Given the description of an element on the screen output the (x, y) to click on. 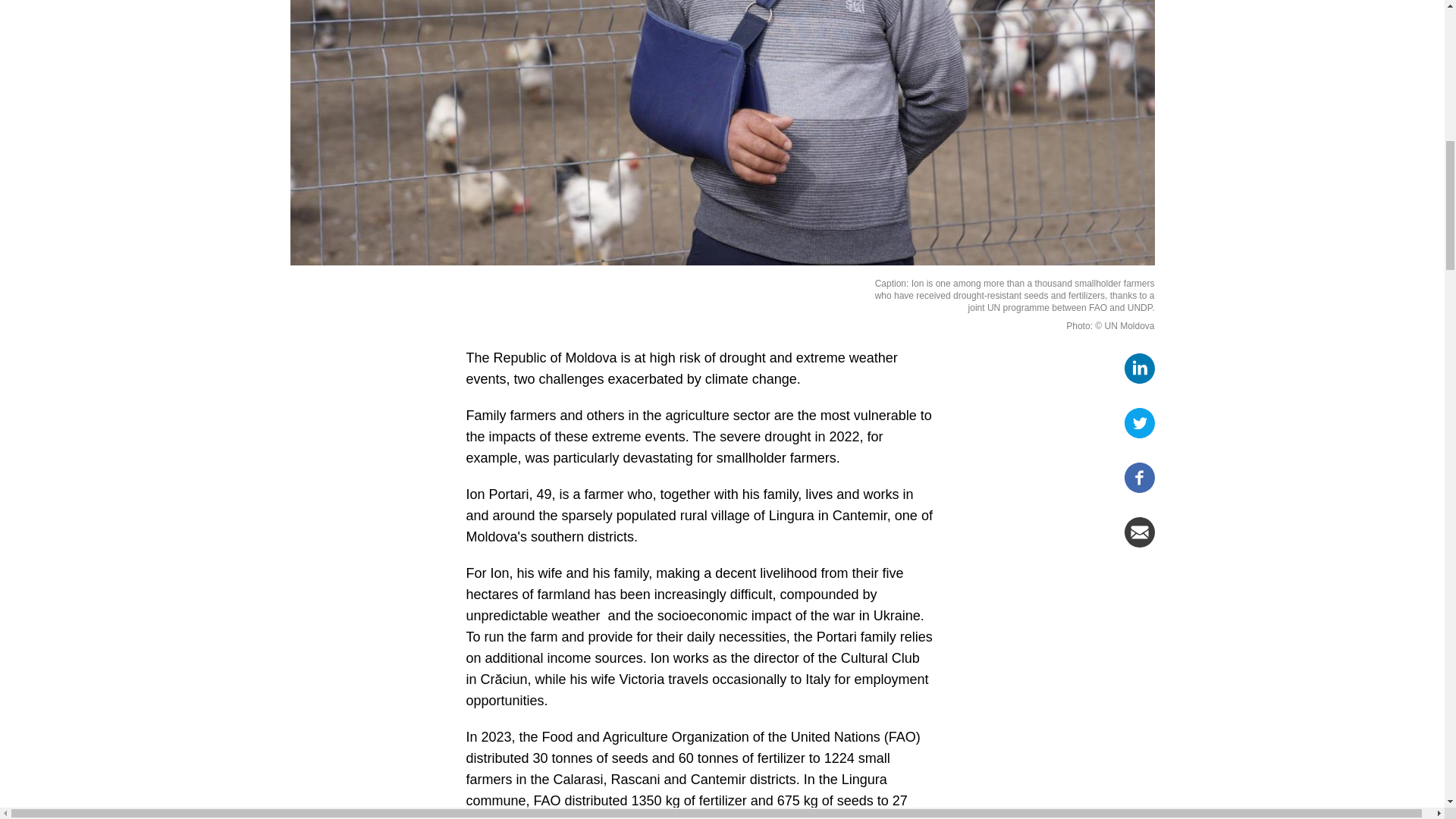
Linkedin (1139, 368)
Twitter (1139, 422)
Email (1139, 531)
Facebook (1139, 477)
